Given the description of an element on the screen output the (x, y) to click on. 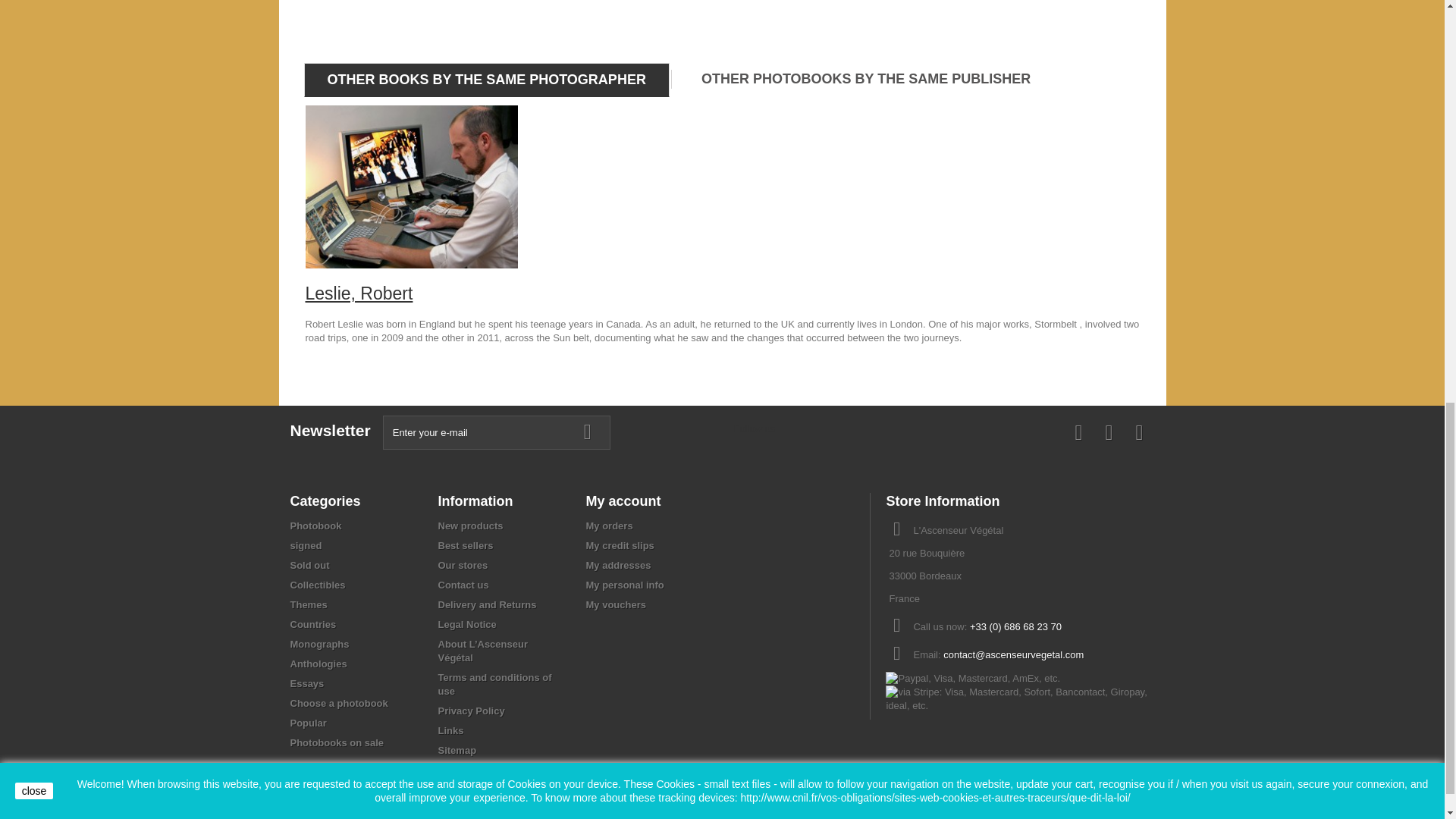
Enter your e-mail (496, 432)
